Given the description of an element on the screen output the (x, y) to click on. 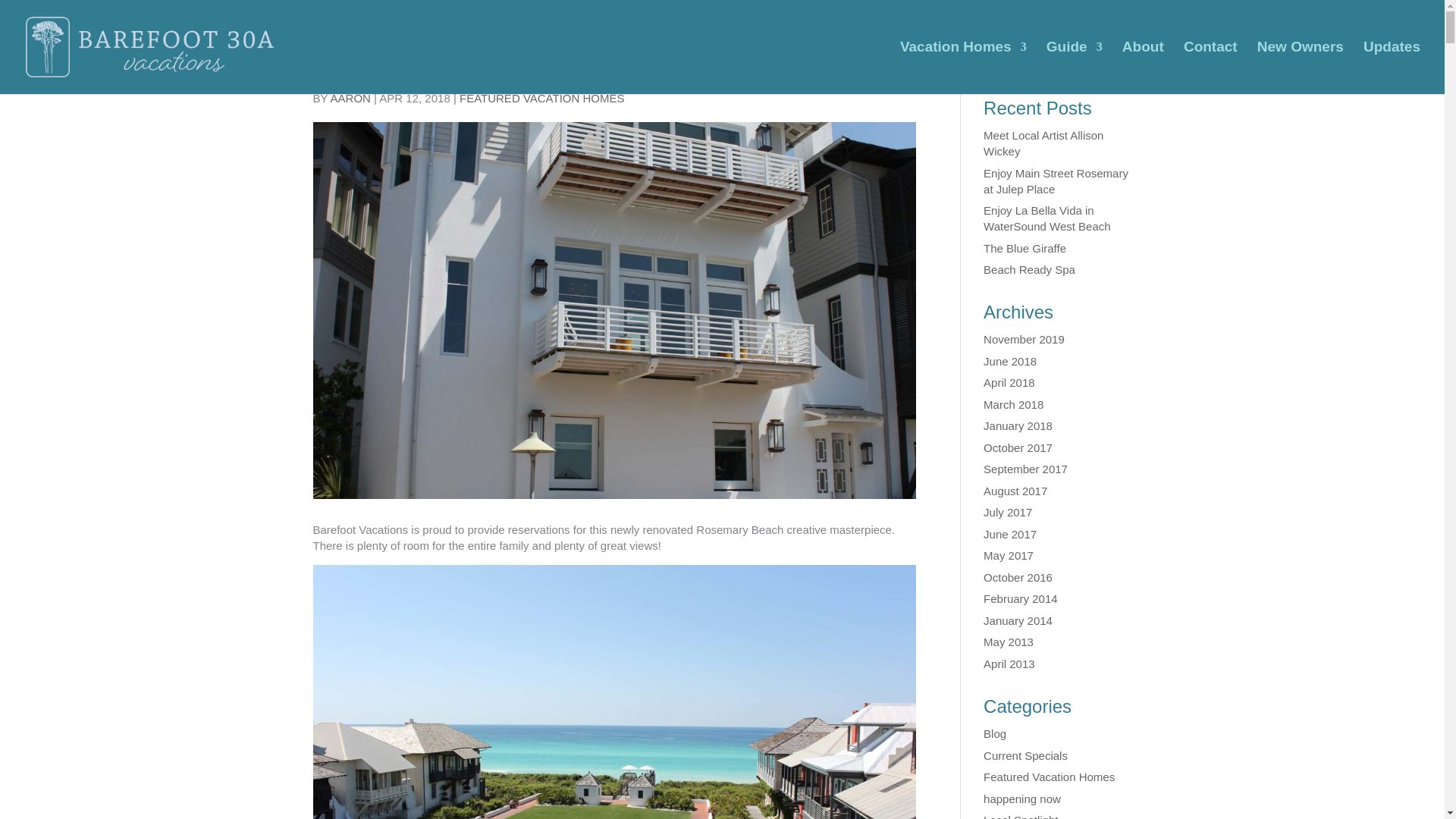
Updates (1391, 67)
Search (1106, 58)
Posts by aaron (350, 97)
Contact (1210, 67)
Guide (1074, 67)
Vacation Homes (962, 67)
New Owners (1300, 67)
